Given the description of an element on the screen output the (x, y) to click on. 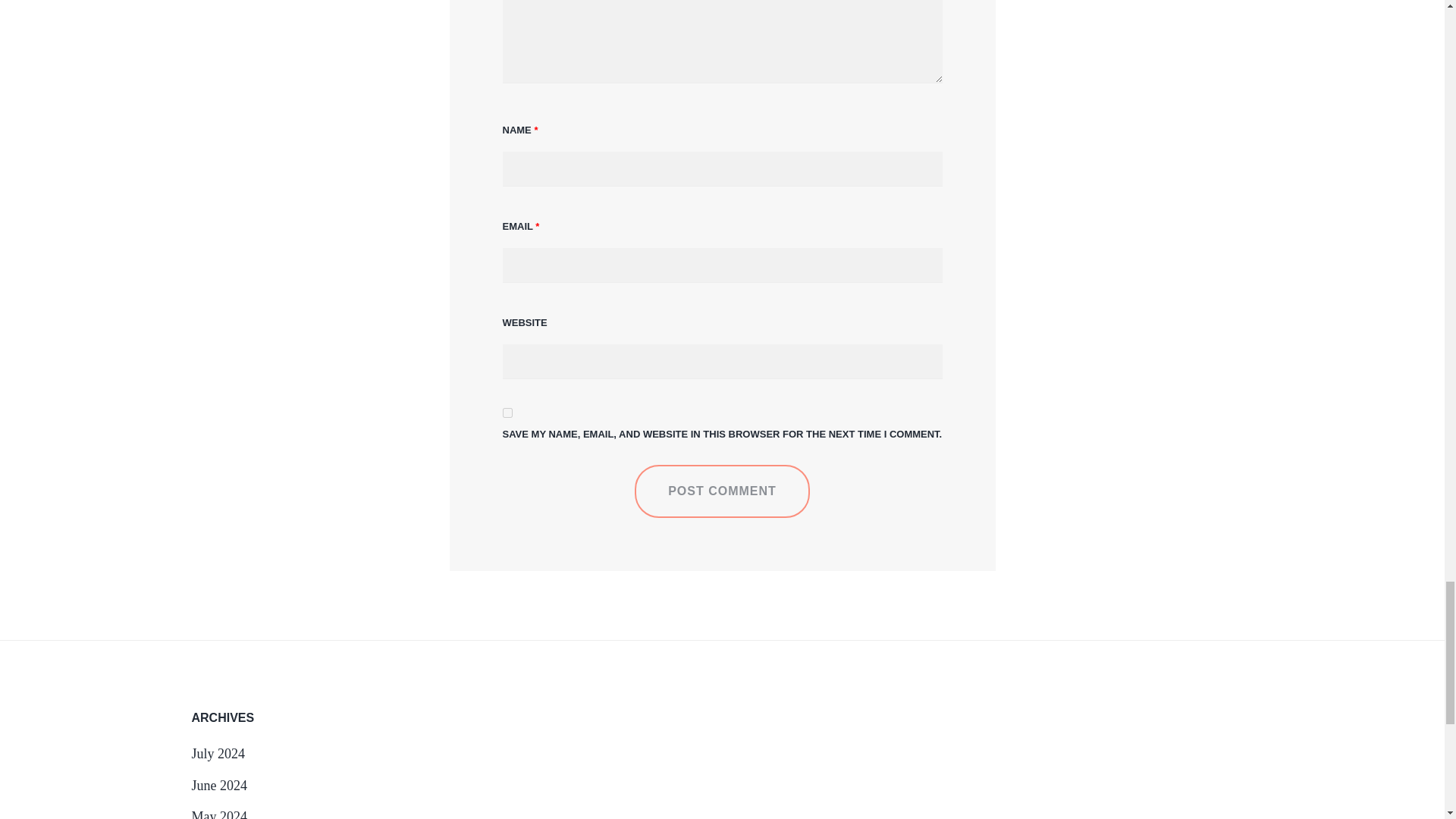
yes (507, 412)
July 2024 (217, 753)
Post Comment (721, 491)
June 2024 (218, 785)
May 2024 (218, 814)
Post Comment (721, 491)
